Given the description of an element on the screen output the (x, y) to click on. 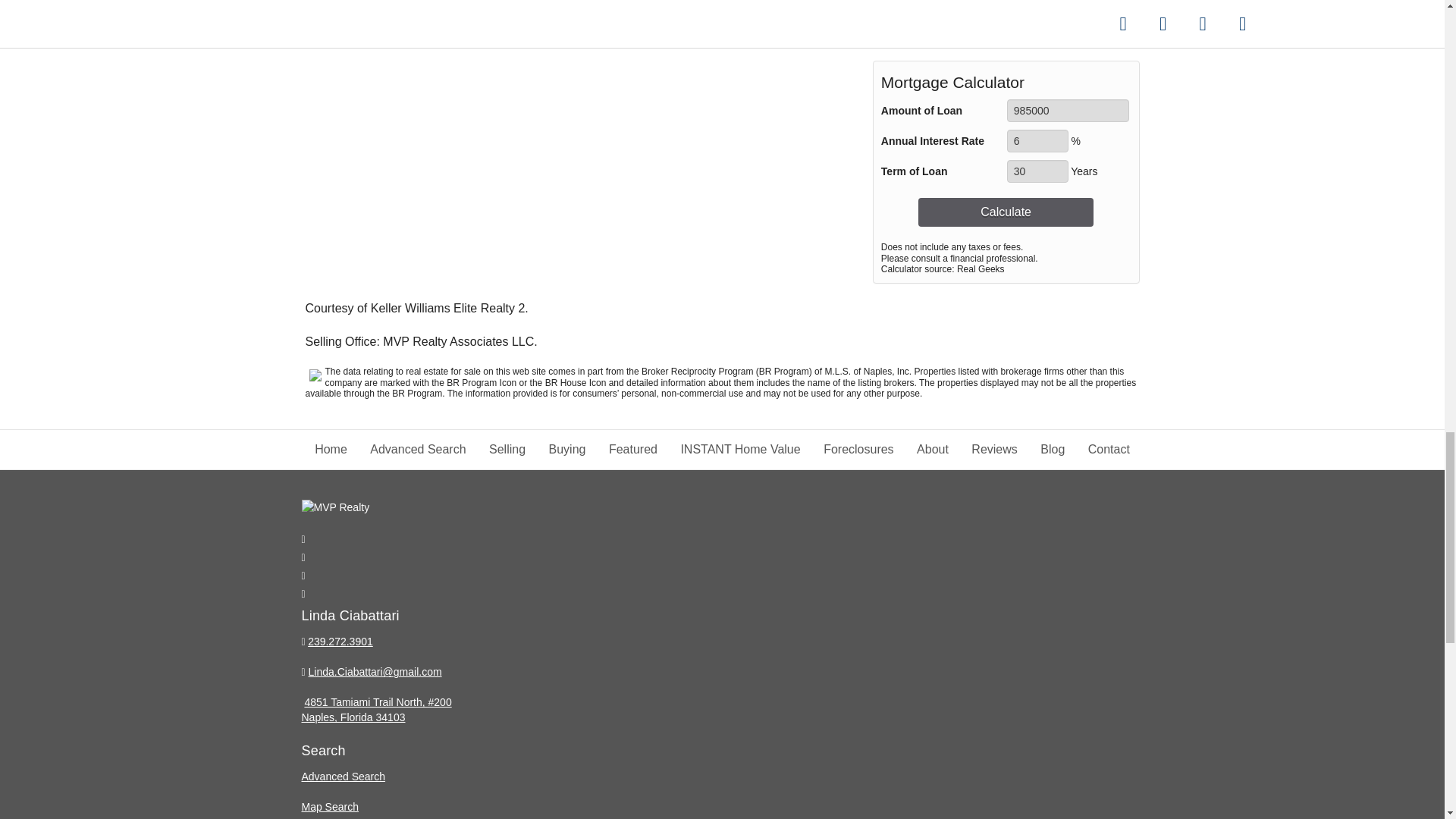
6 (1037, 140)
985000 (1068, 110)
30 (1037, 170)
